Given the description of an element on the screen output the (x, y) to click on. 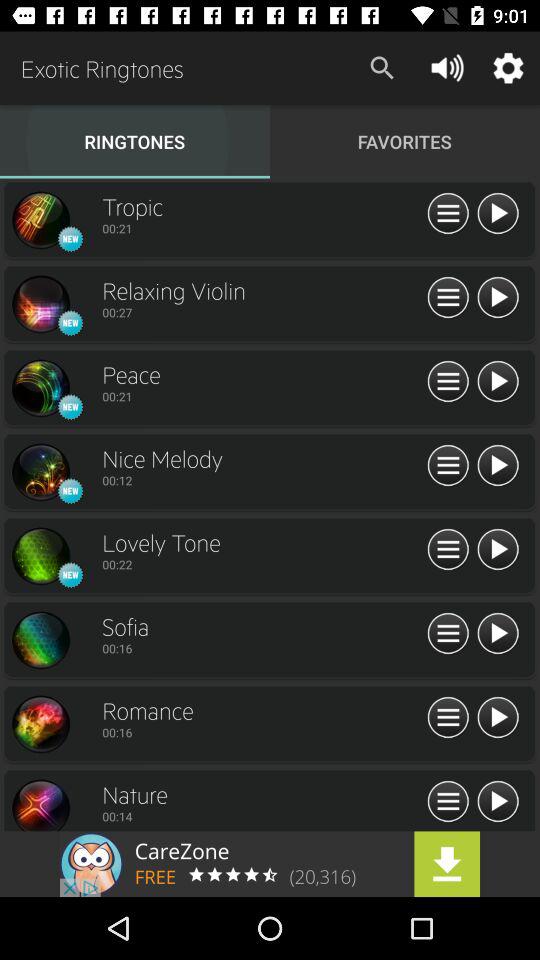
select more options for romance (447, 717)
